Given the description of an element on the screen output the (x, y) to click on. 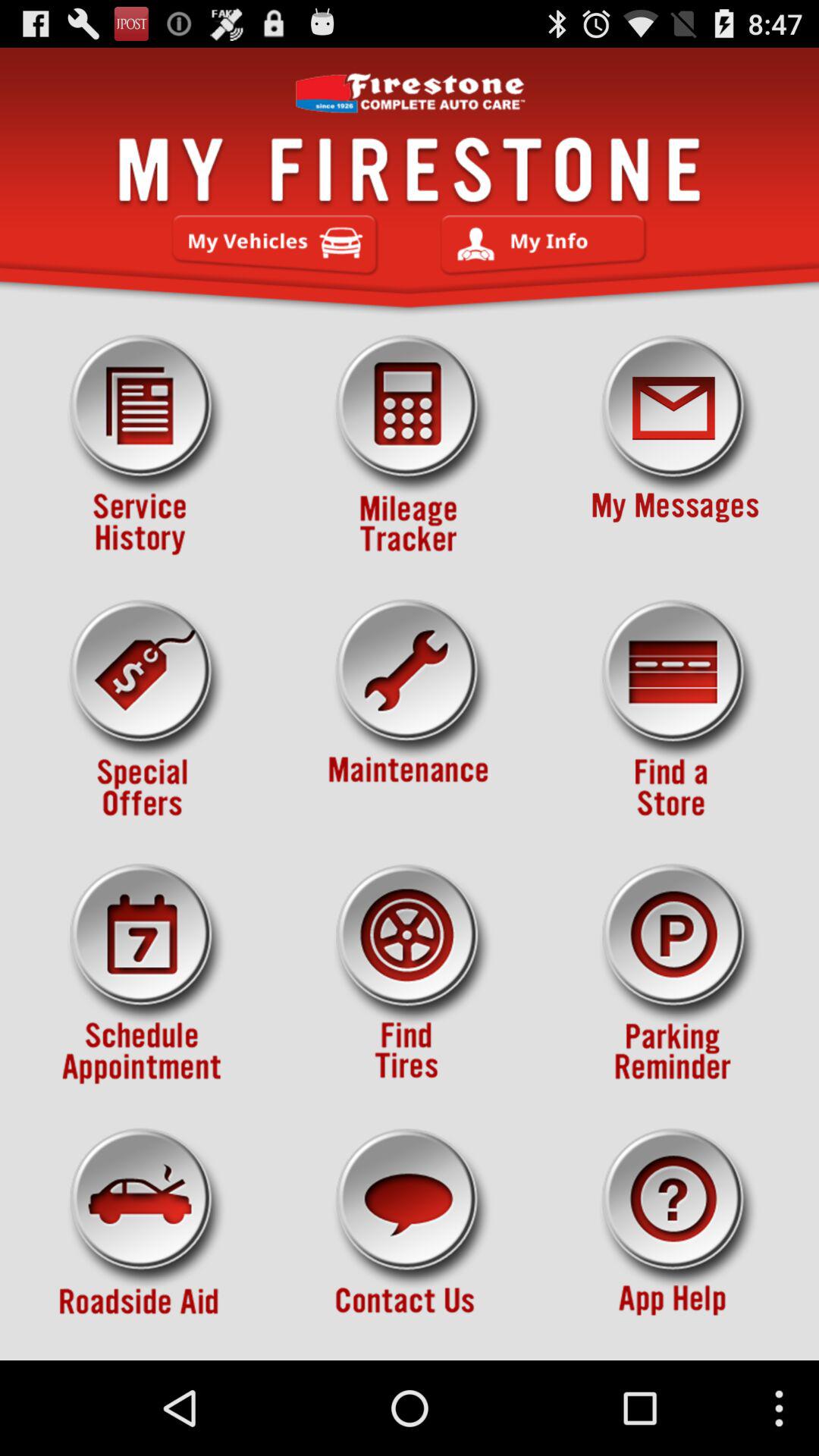
open item at the top right corner (675, 445)
